Given the description of an element on the screen output the (x, y) to click on. 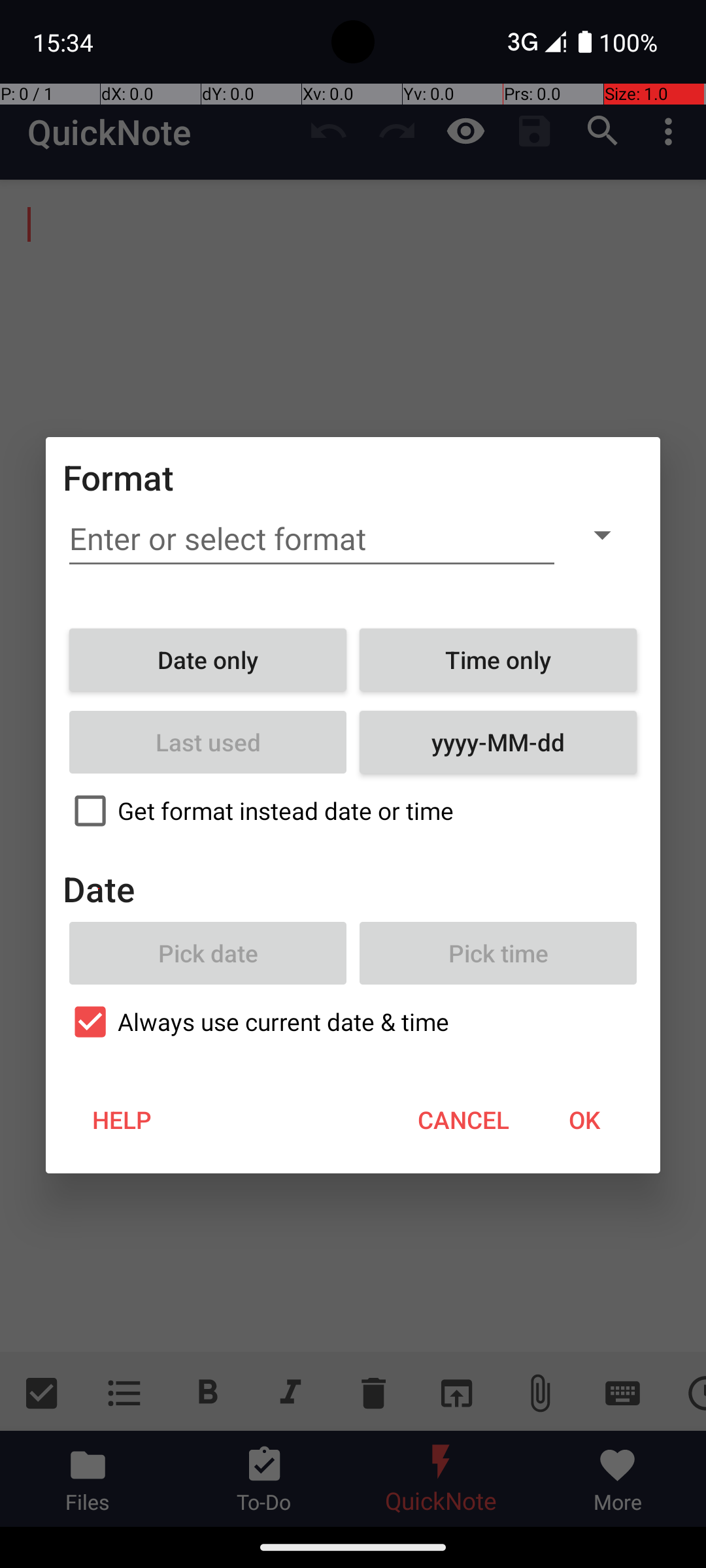
Enter or select format Element type: android.widget.EditText (311, 538)
